Given the description of an element on the screen output the (x, y) to click on. 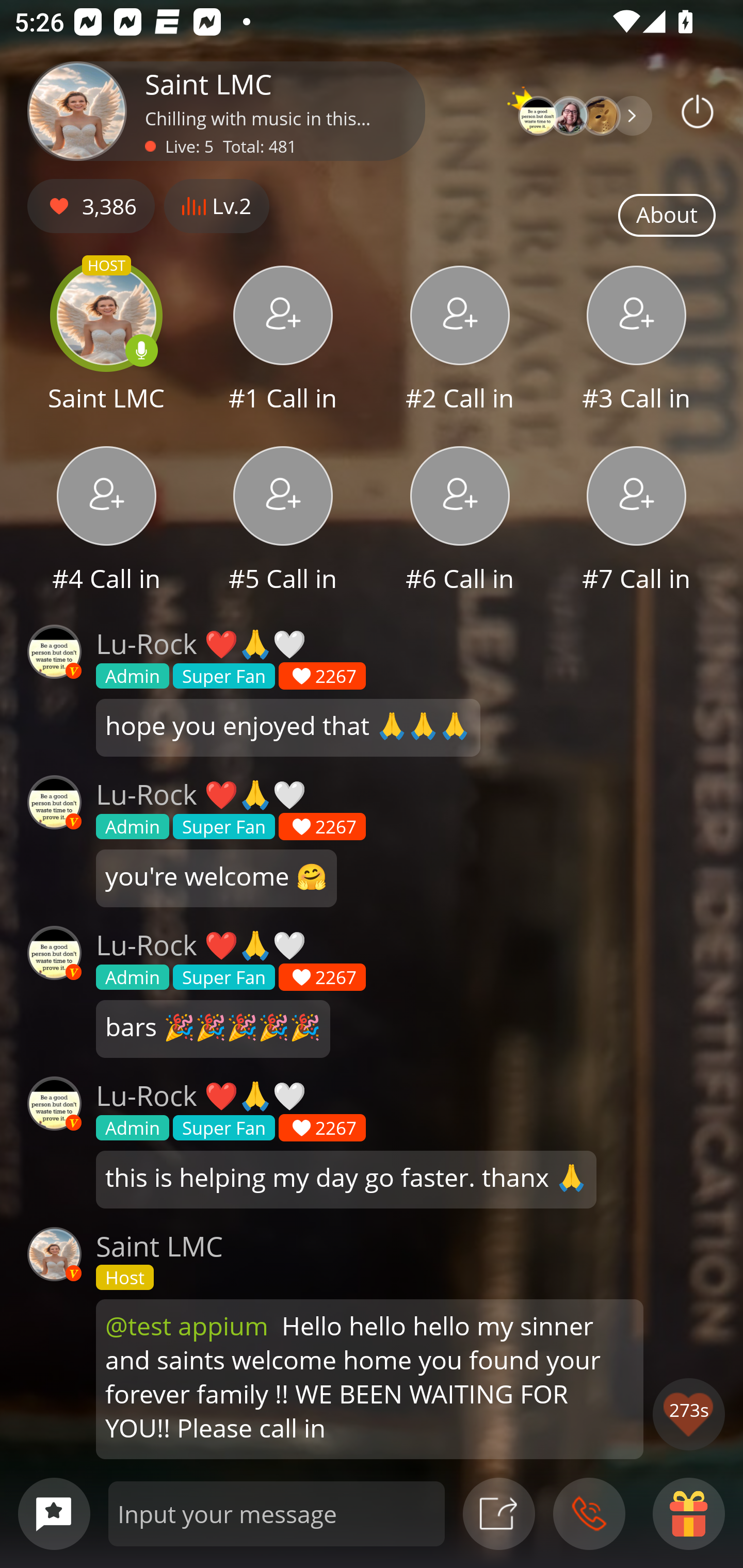
Podbean (697, 111)
About (666, 215)
HOST Saint LMC (105, 340)
#1 Call in (282, 340)
#2 Call in (459, 340)
#3 Call in (636, 340)
#4 Call in (105, 521)
#5 Call in (282, 521)
#6 Call in (459, 521)
#7 Call in (636, 521)
Input your message (276, 1513)
